Given the description of an element on the screen output the (x, y) to click on. 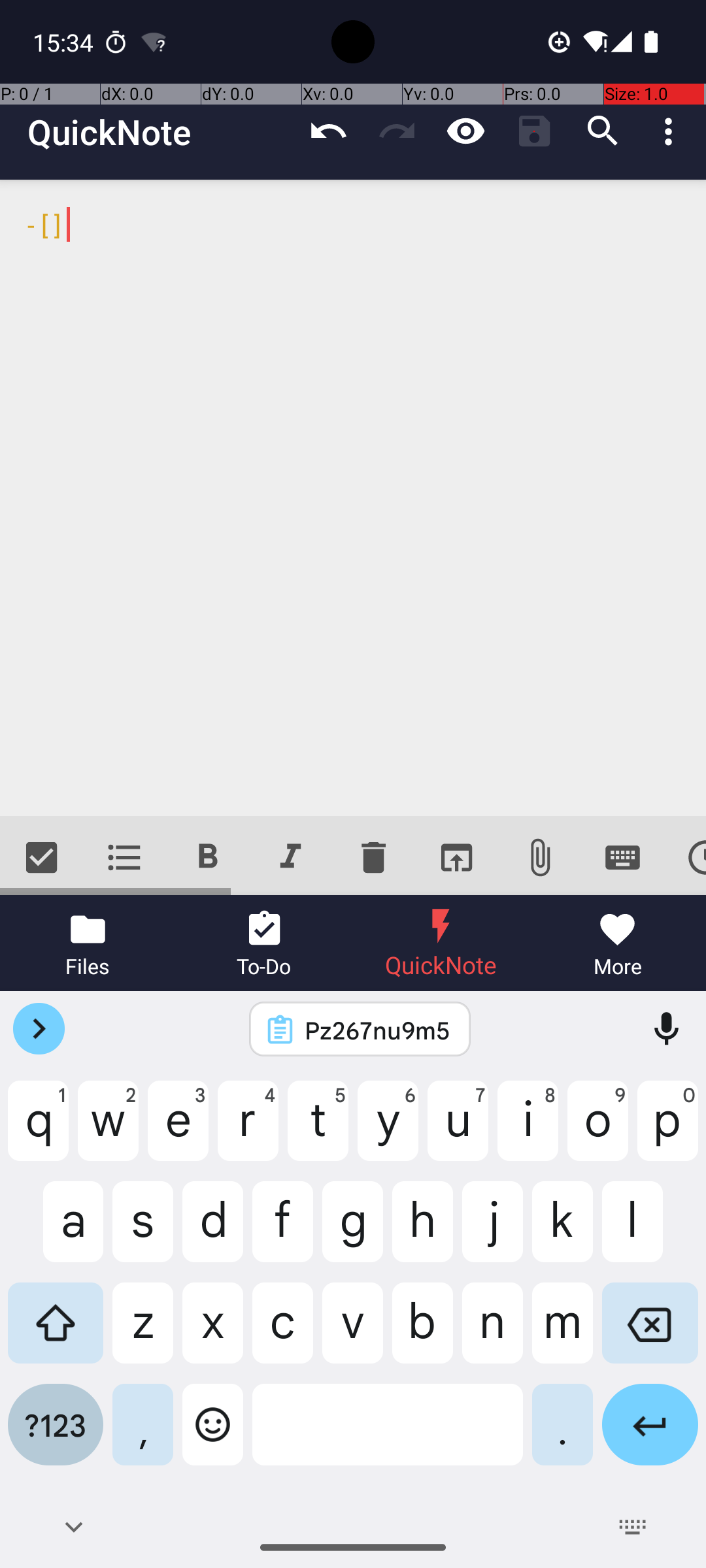
- [ ]  Element type: android.widget.EditText (353, 497)
Pz267nu9m5 Element type: android.widget.TextView (376, 1029)
